Given the description of an element on the screen output the (x, y) to click on. 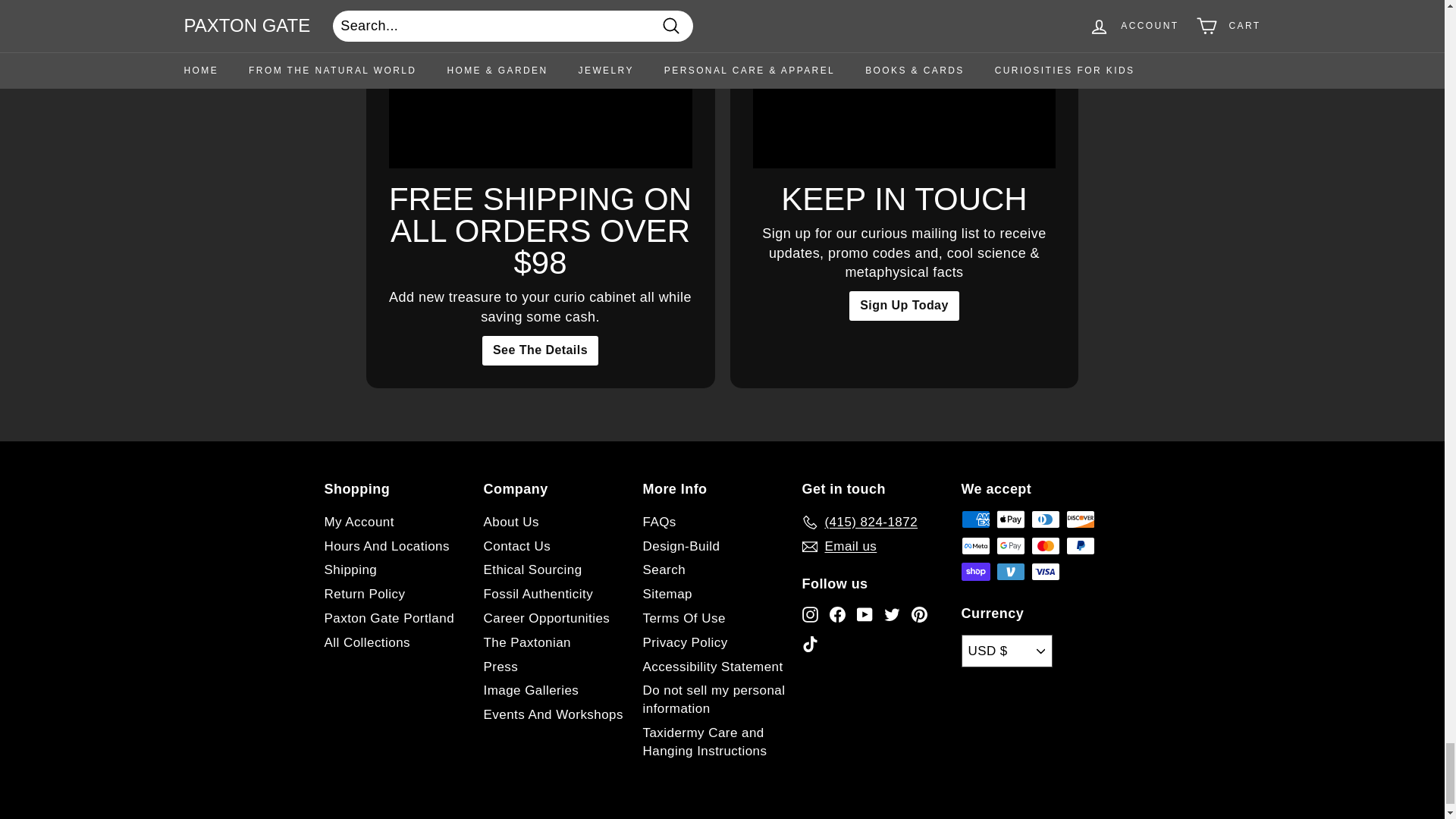
Diners Club (1044, 519)
American Express (975, 519)
Apple Pay (1010, 519)
